Given the description of an element on the screen output the (x, y) to click on. 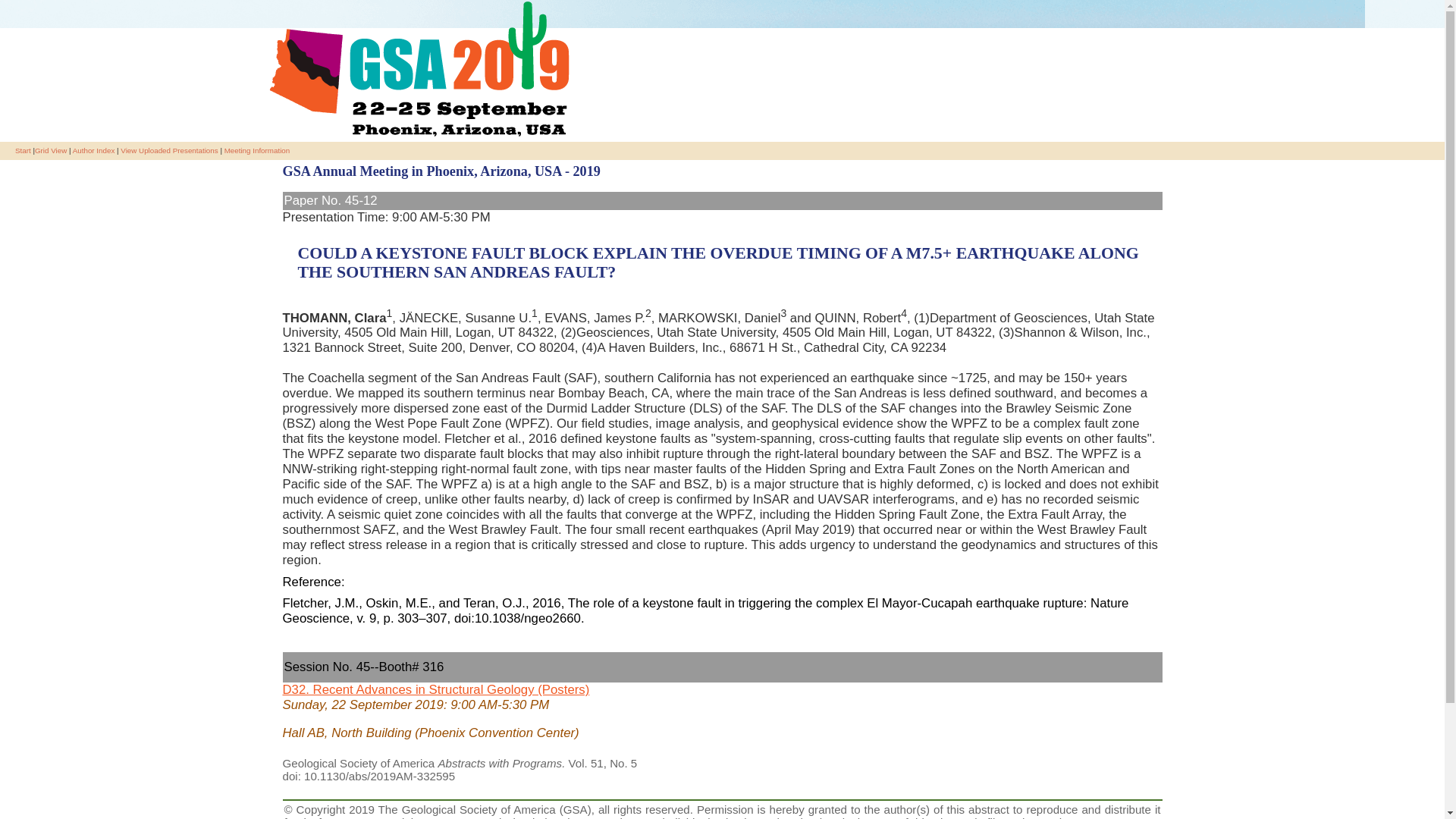
Grid View (50, 150)
View Uploaded Presentations (168, 150)
Start (22, 150)
Author Index (93, 150)
Meeting Information (256, 150)
